Given the description of an element on the screen output the (x, y) to click on. 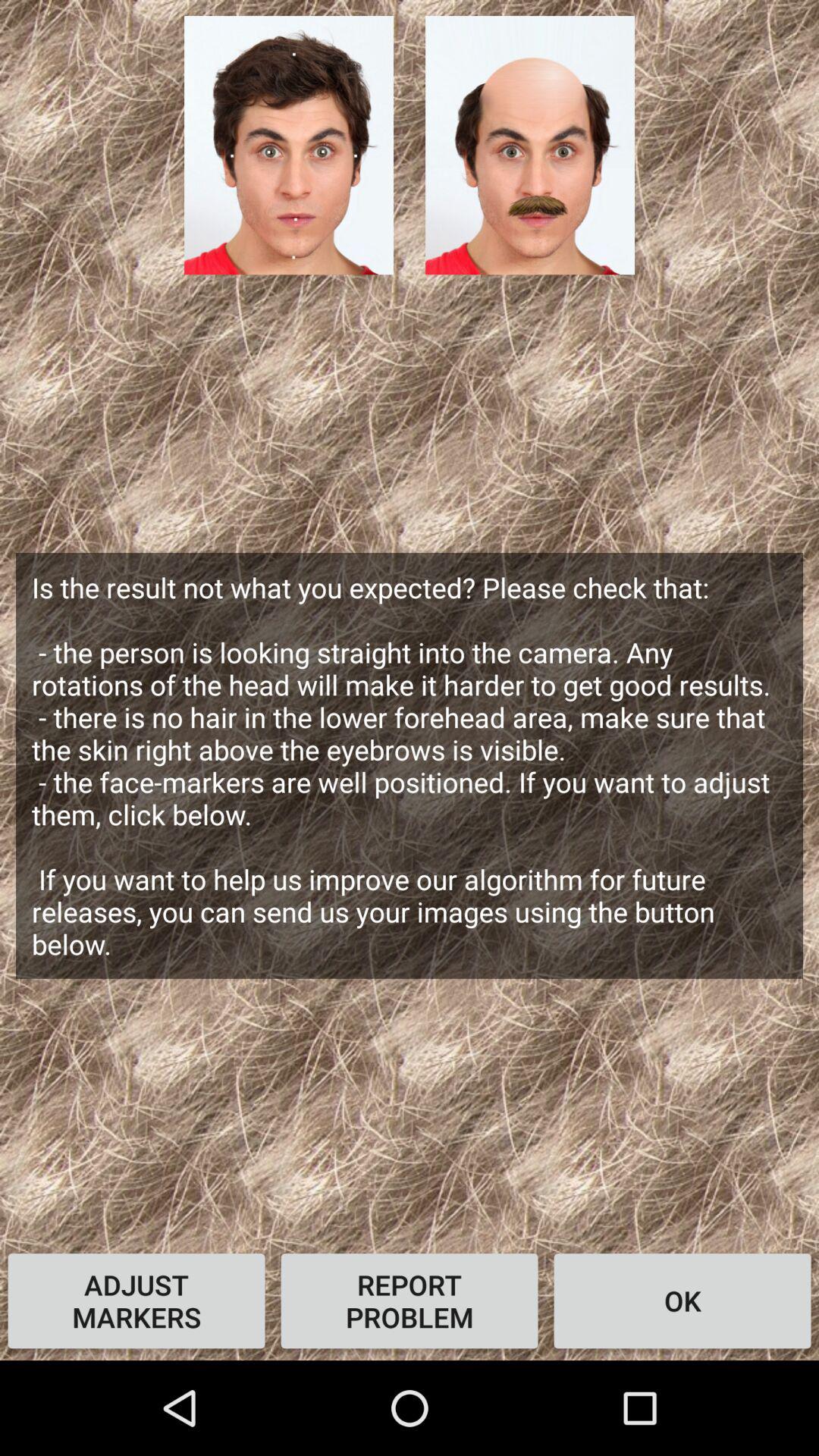
jump until ok (682, 1300)
